Given the description of an element on the screen output the (x, y) to click on. 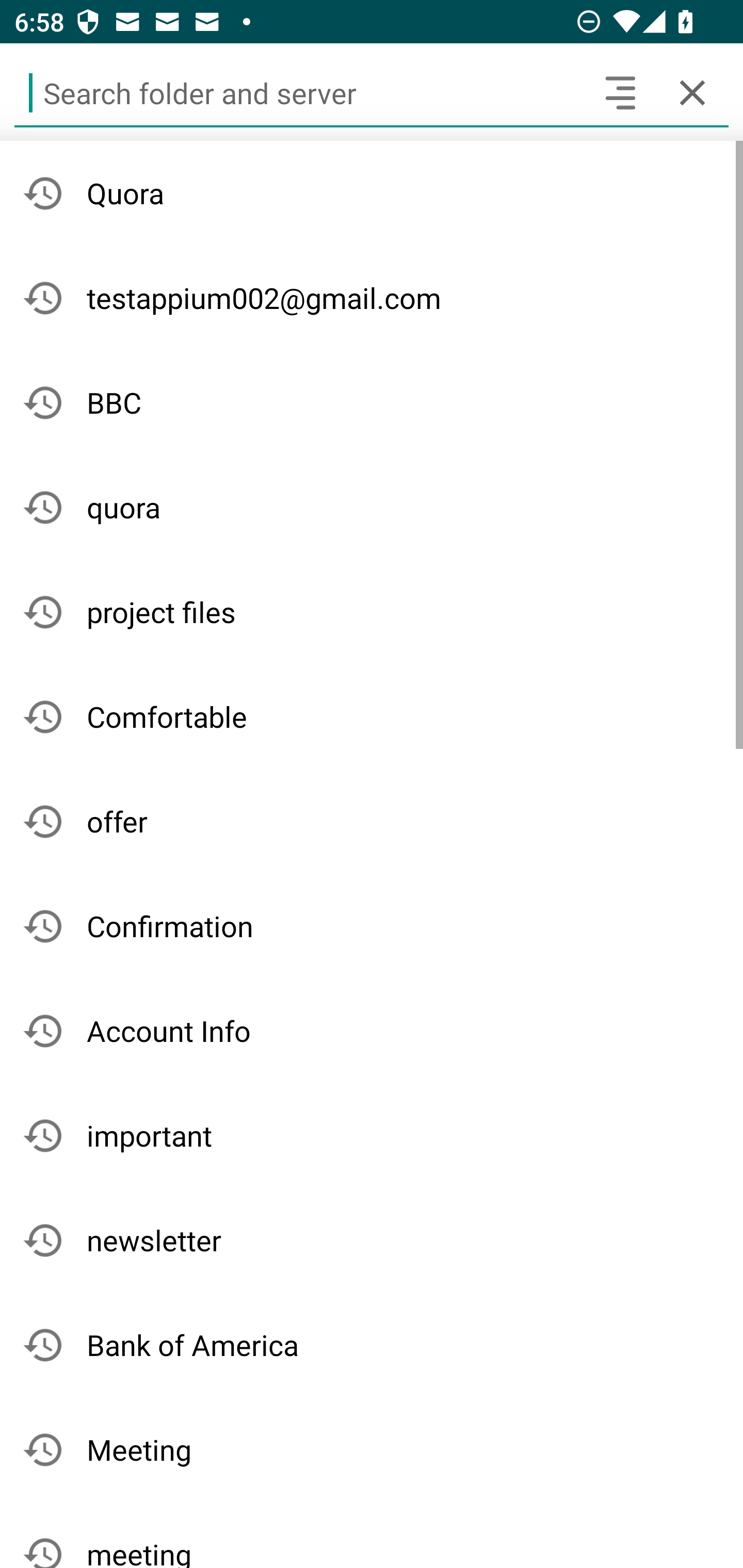
   Search folder and server (298, 92)
Search headers and text (619, 92)
Cancel (692, 92)
